Given the description of an element on the screen output the (x, y) to click on. 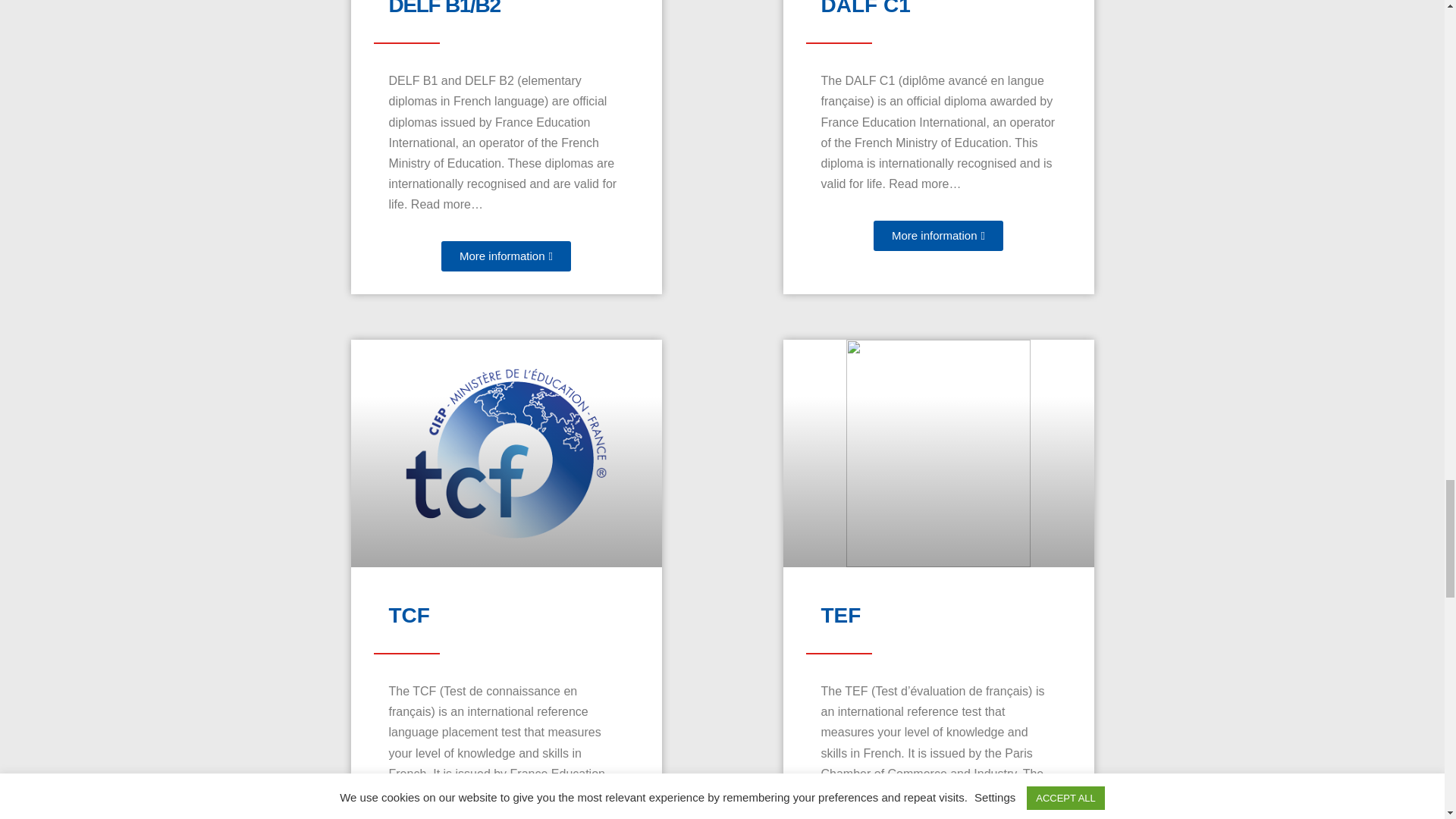
More information (938, 235)
More information (505, 255)
